Given the description of an element on the screen output the (x, y) to click on. 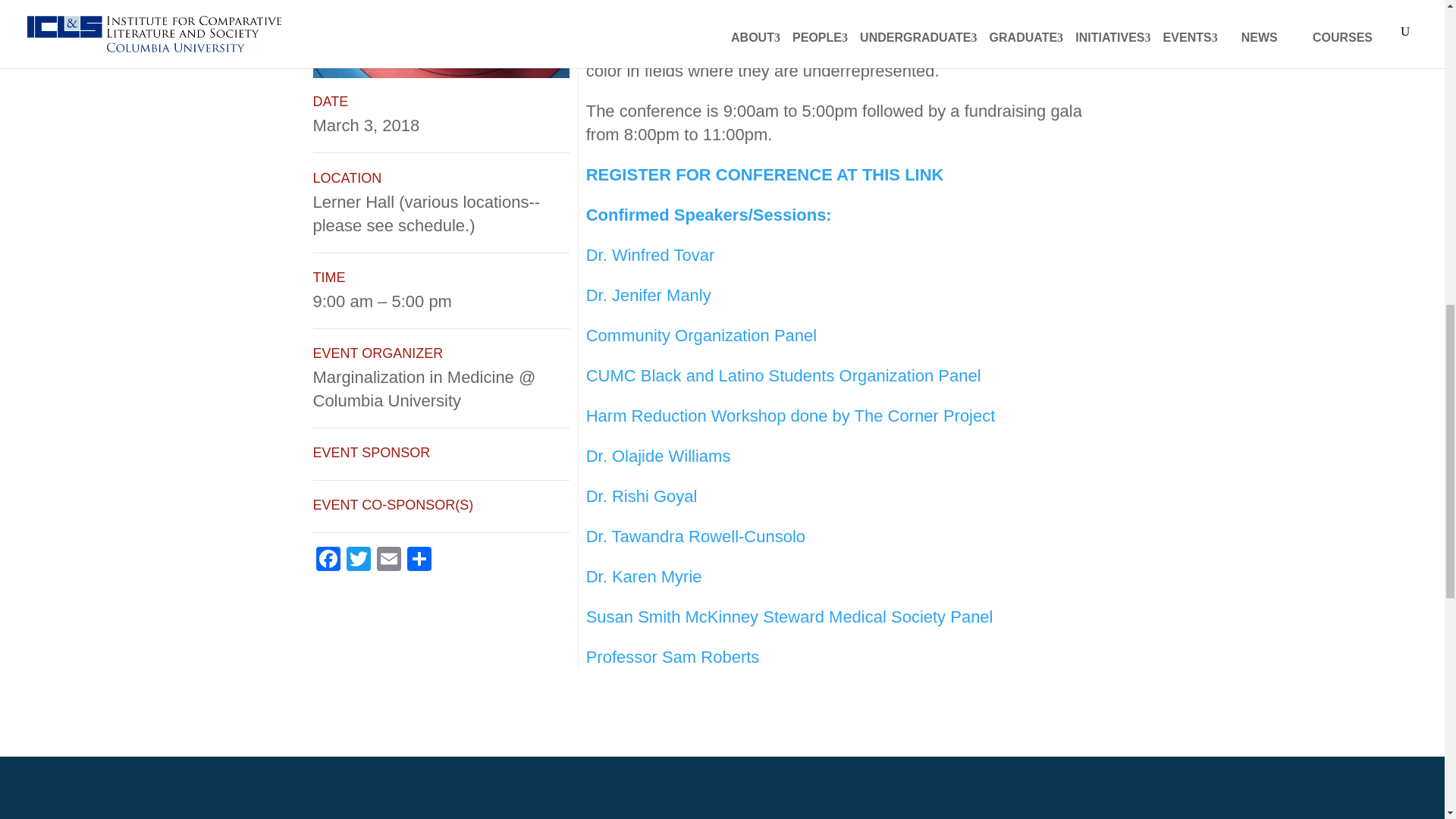
Twitter (357, 560)
Facebook (327, 560)
Email (387, 560)
